Given the description of an element on the screen output the (x, y) to click on. 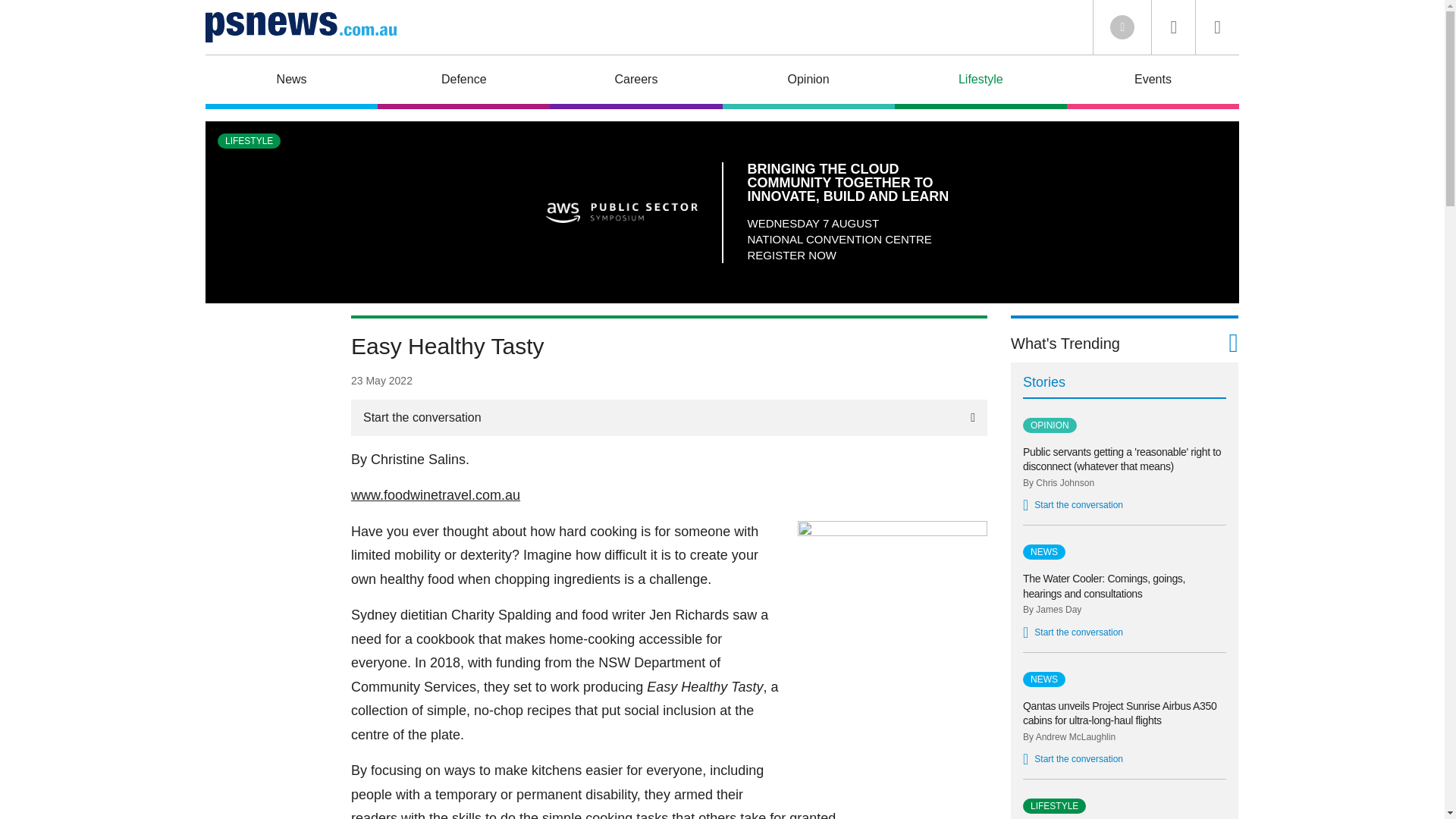
PS News Home (300, 26)
Defence (463, 81)
News (291, 81)
LinkedIn (1121, 27)
